Given the description of an element on the screen output the (x, y) to click on. 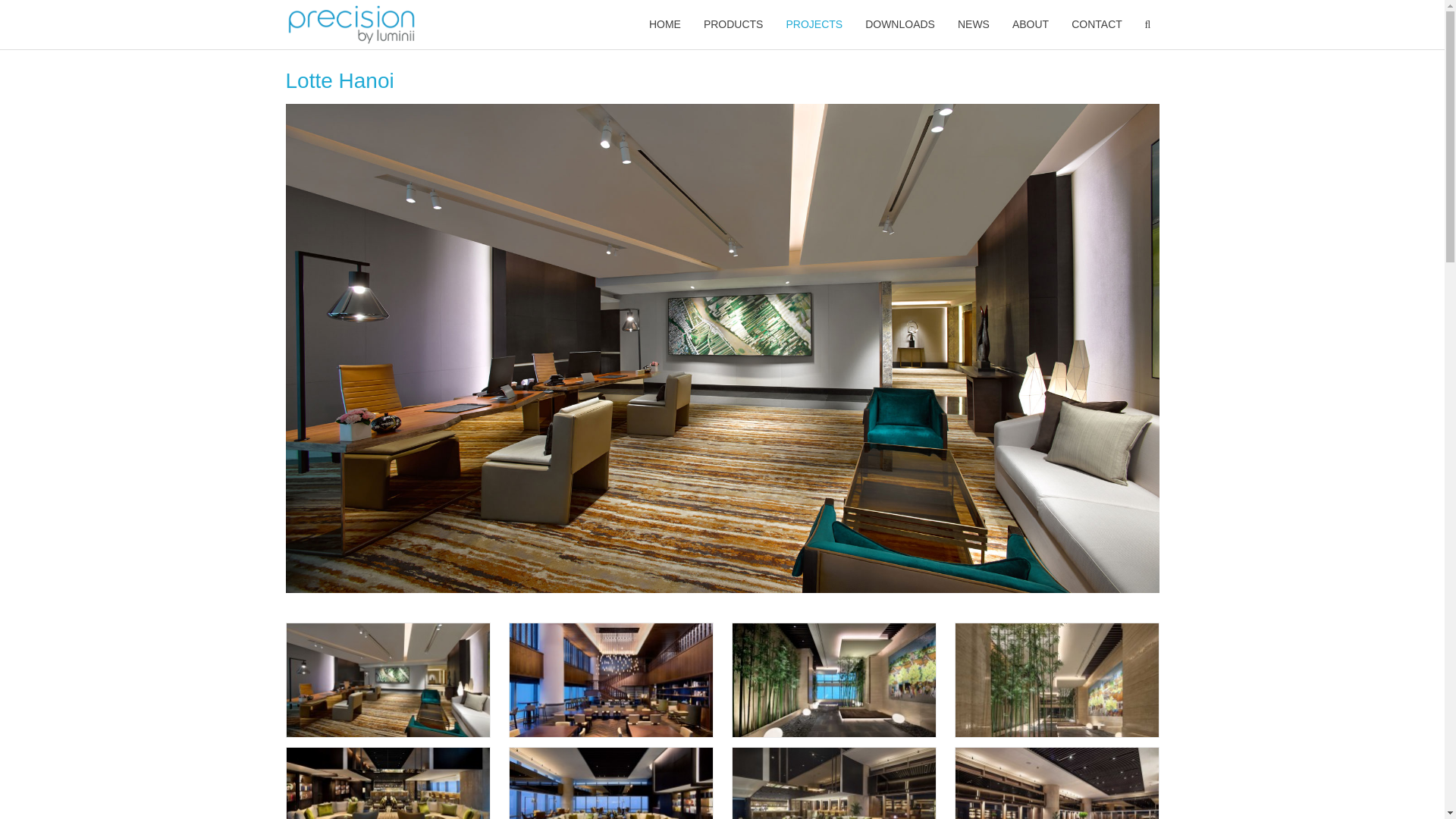
PROJECTS (814, 24)
DOWNLOADS (899, 24)
CONTACT (1096, 24)
PRODUCTS (732, 24)
